Given the description of an element on the screen output the (x, y) to click on. 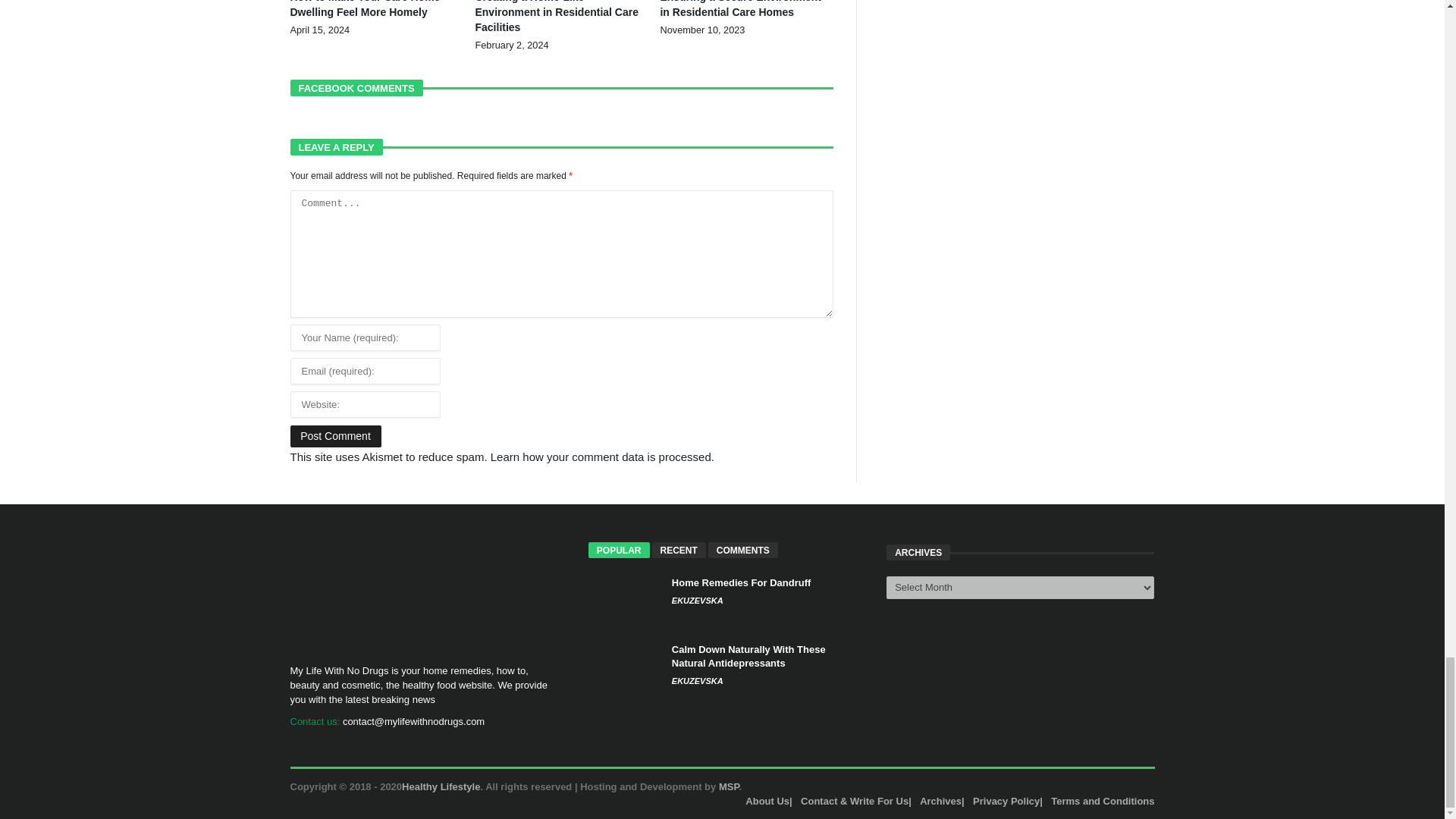
Post Comment (334, 436)
